Given the description of an element on the screen output the (x, y) to click on. 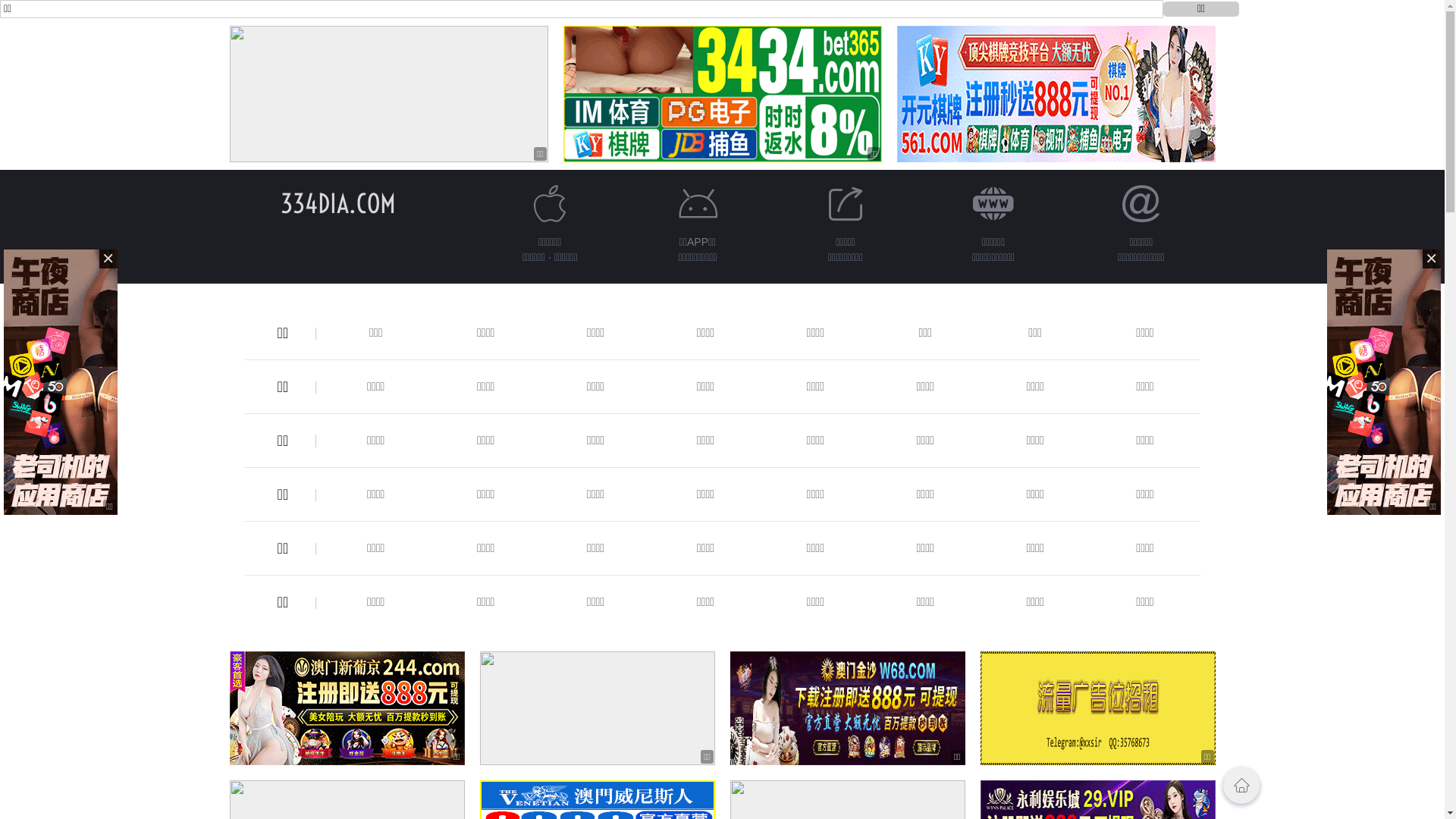
334DIA.COM Element type: text (337, 203)
